Given the description of an element on the screen output the (x, y) to click on. 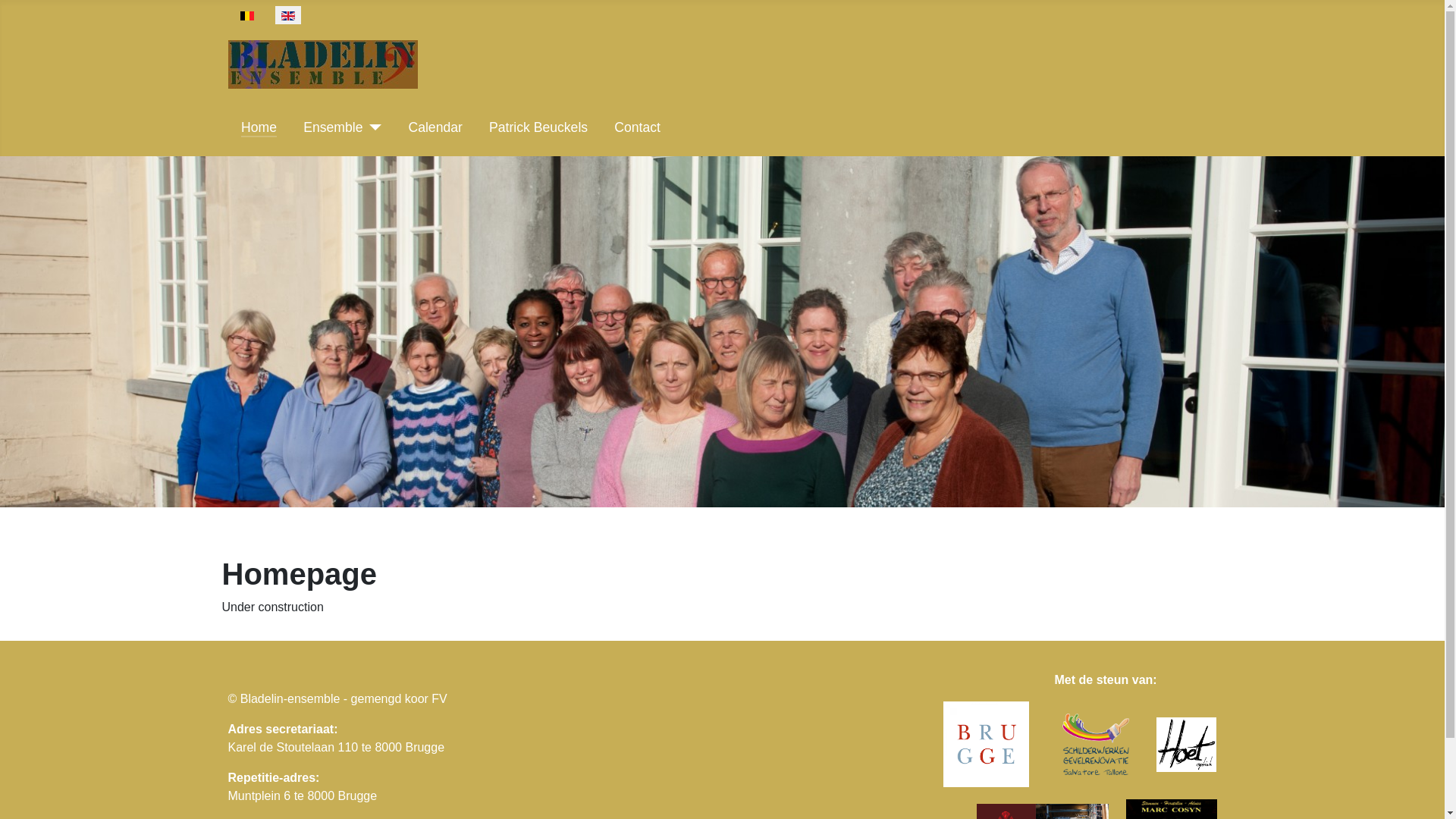
Patrick Beuckels Element type: text (538, 127)
Calendar Element type: text (434, 127)
Home Element type: text (258, 127)
Contact Element type: text (637, 127)
Ensemble Element type: text (342, 127)
English (United Kingdom) Element type: hover (287, 15)
Nederlands (nl-NL) Element type: hover (246, 15)
